Given the description of an element on the screen output the (x, y) to click on. 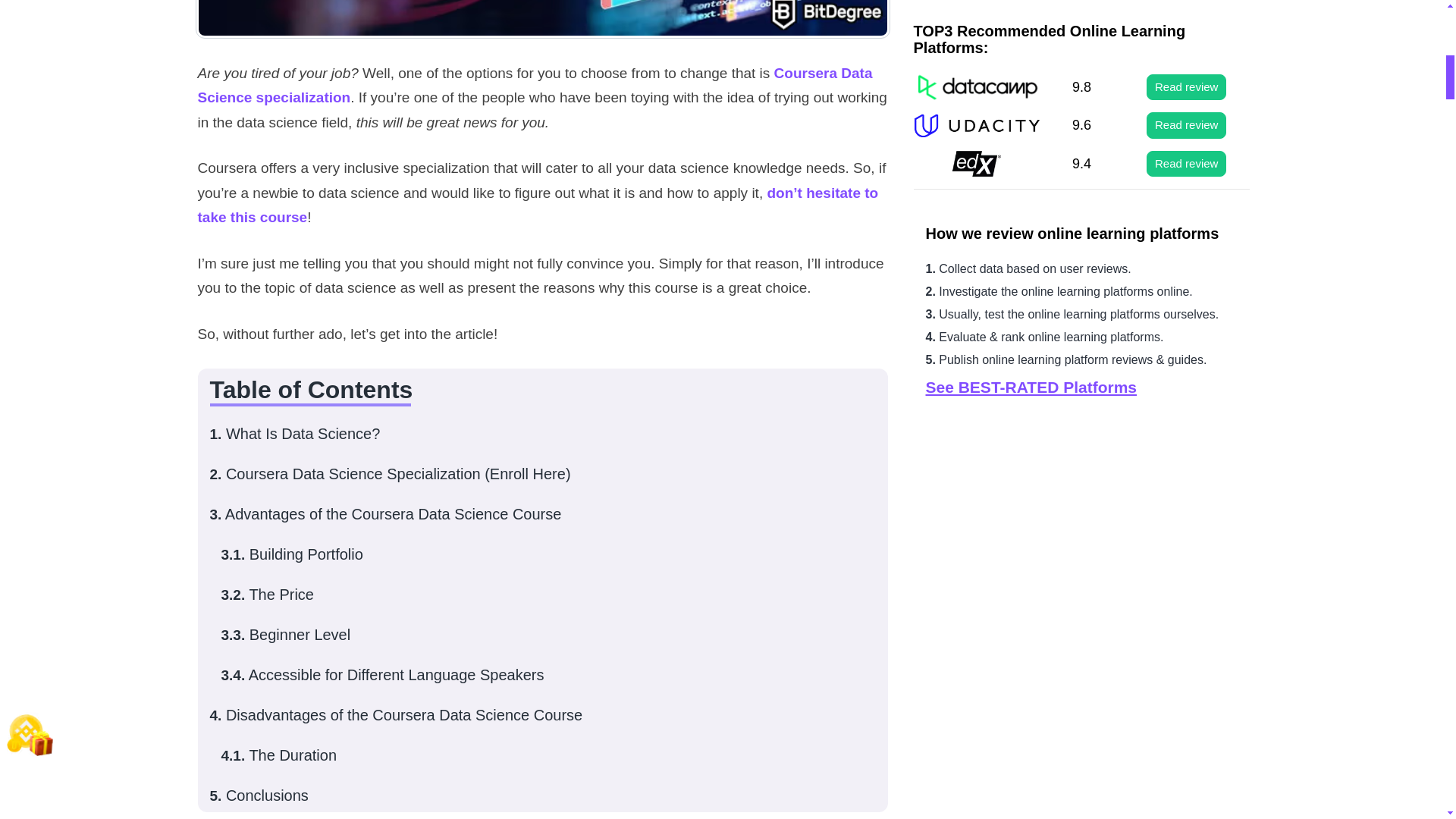
4.1. The Duration (279, 754)
Coursera Data Science: Is It Worth It? (542, 19)
4. Disadvantages of the Coursera Data Science Course (395, 714)
3.4. Accessible for Different Language Speakers (382, 674)
3. Advantages of the Coursera Data Science Course (384, 514)
Coursera Data Science specialization (534, 85)
5. Conclusions (258, 795)
3.1. Building Portfolio (291, 554)
3.2. The Price (267, 594)
1. What Is Data Science? (294, 433)
